Given the description of an element on the screen output the (x, y) to click on. 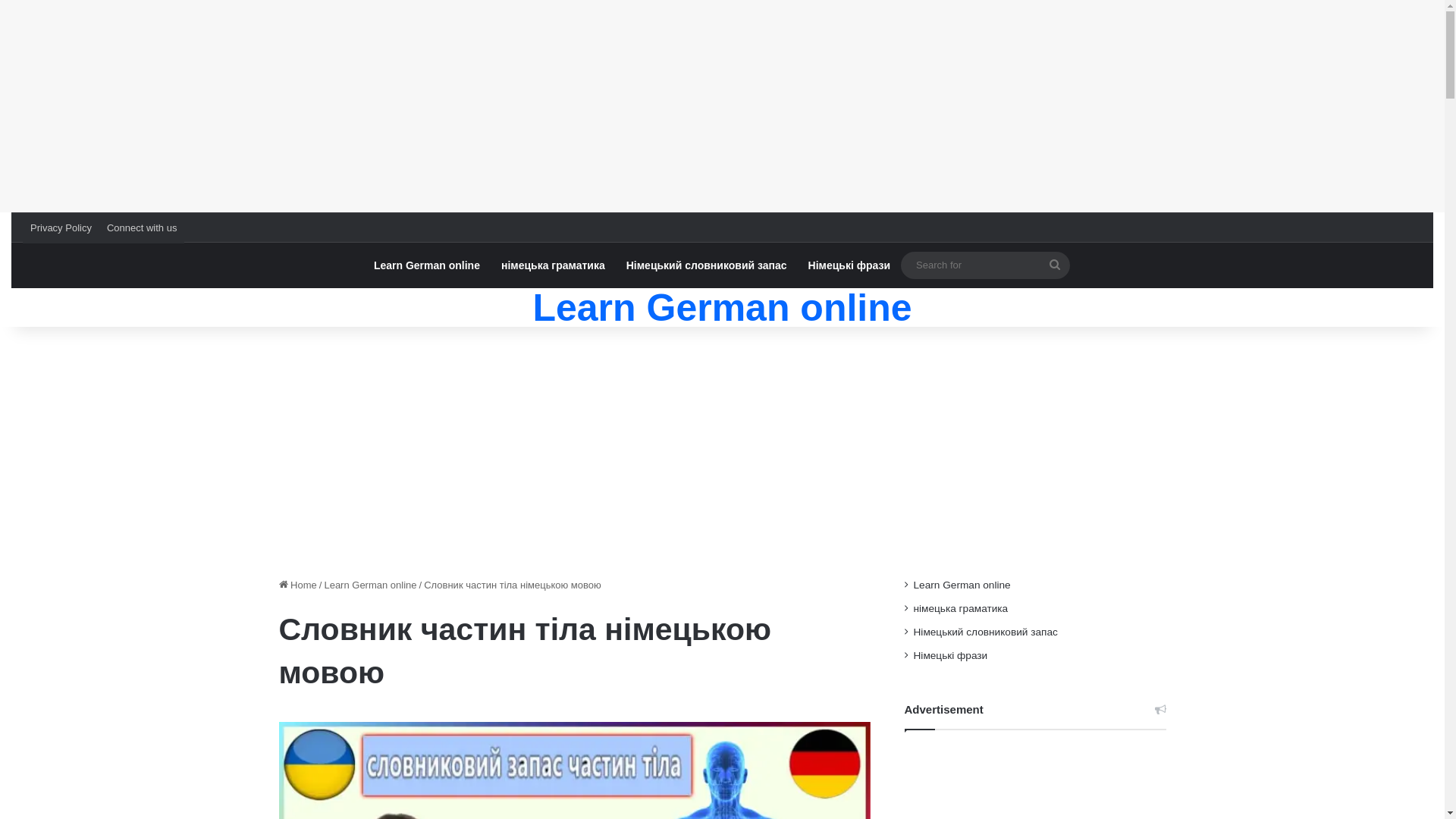
Connect with us Element type: text (142, 228)
Home Element type: text (297, 584)
Learn German online Element type: text (426, 265)
Learn German online Element type: text (722, 307)
Privacy Policy Element type: text (60, 228)
Advertisement Element type: hover (721, 448)
Learn German online Element type: text (961, 584)
Learn German online Element type: text (369, 584)
Search for Element type: hover (985, 264)
Advertisement Element type: hover (721, 106)
Search for Element type: text (1054, 265)
